Given the description of an element on the screen output the (x, y) to click on. 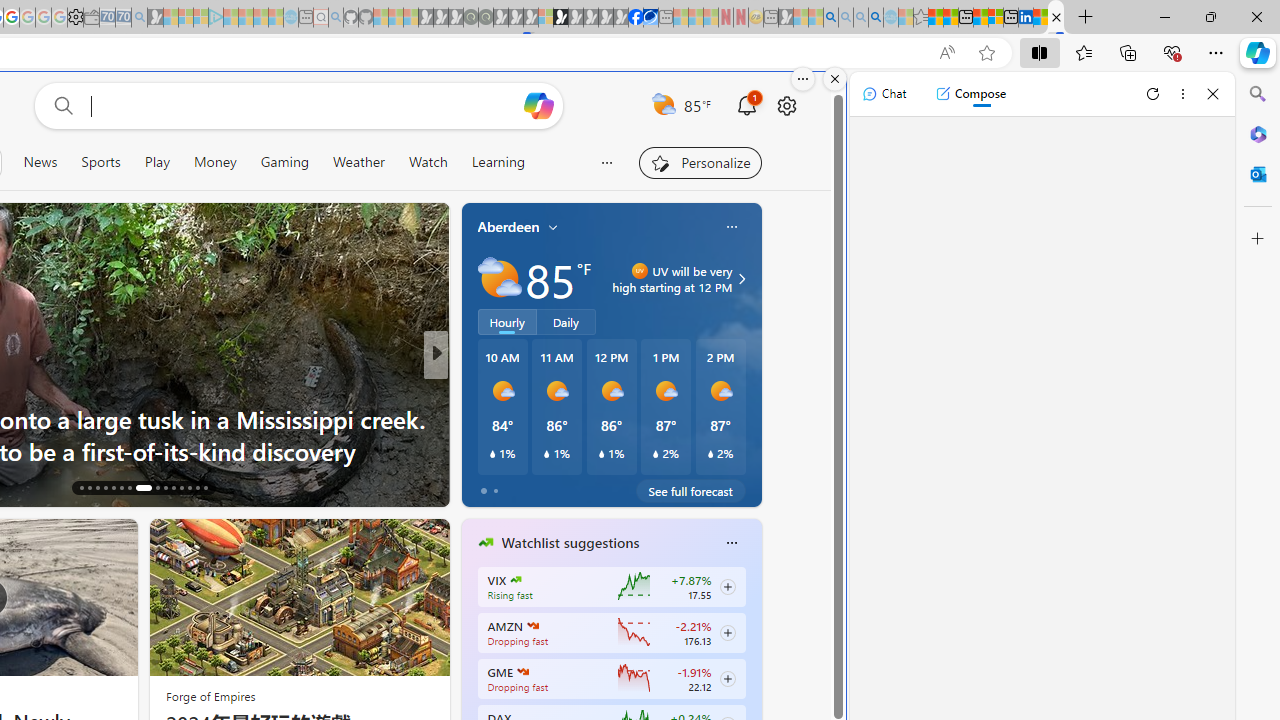
Class: weather-current-precipitation-glyph (710, 453)
AutomationID: tab-30 (204, 487)
Daily (566, 321)
AutomationID: tab-26 (172, 487)
Sign in to your account - Sleeping (545, 17)
AutomationID: tab-24 (153, 487)
Open Copilot (539, 105)
PC World (477, 418)
Watch (427, 161)
